Given the description of an element on the screen output the (x, y) to click on. 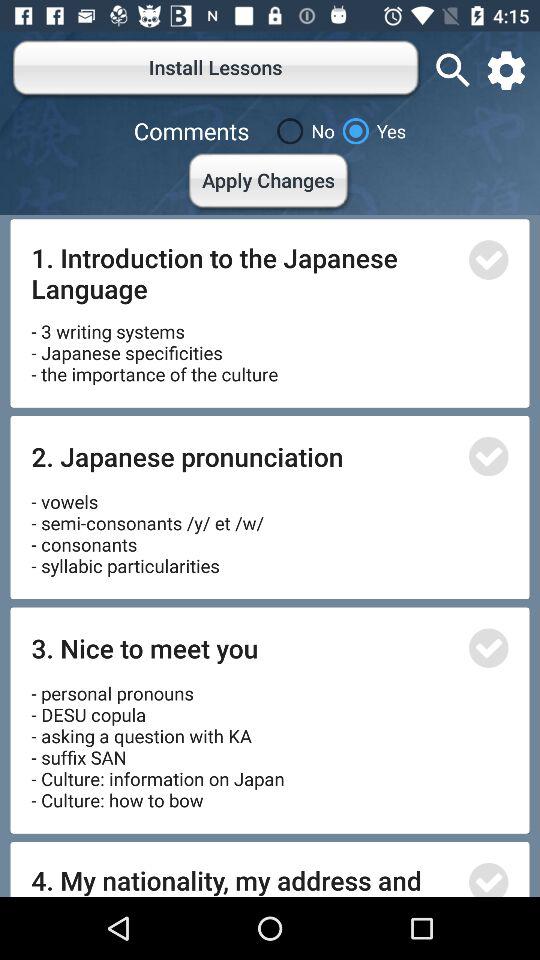
tap item below 3 nice to icon (157, 739)
